Given the description of an element on the screen output the (x, y) to click on. 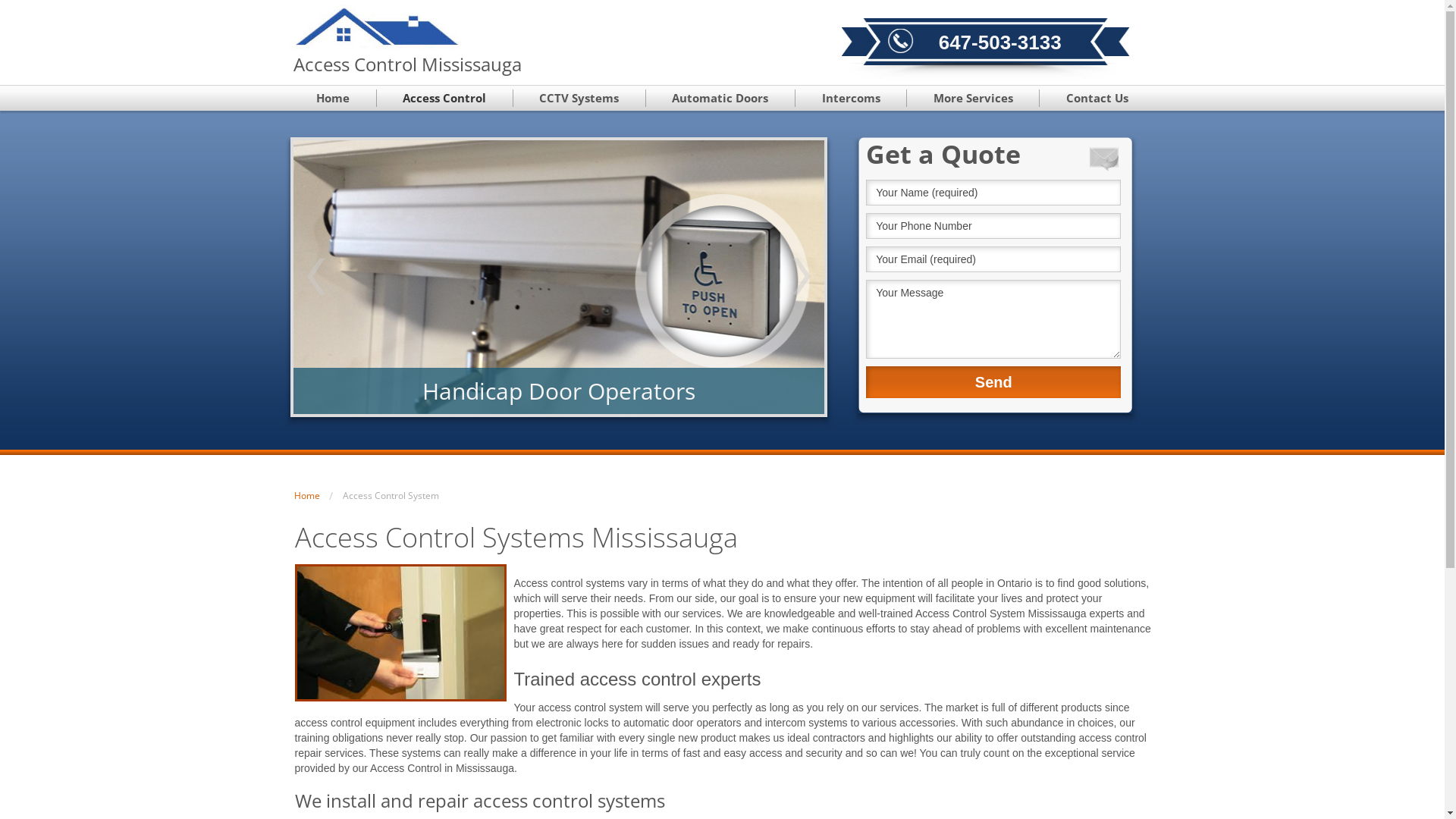
Automatic Doors Element type: text (720, 97)
Send Element type: text (993, 382)
Intercoms Element type: text (850, 97)
Access Control Element type: text (444, 97)
CCTV Systems Element type: text (579, 97)
Contact Us Element type: text (1096, 97)
Home Element type: text (307, 495)
More Services Element type: text (972, 97)
Home Element type: text (332, 97)
